Given the description of an element on the screen output the (x, y) to click on. 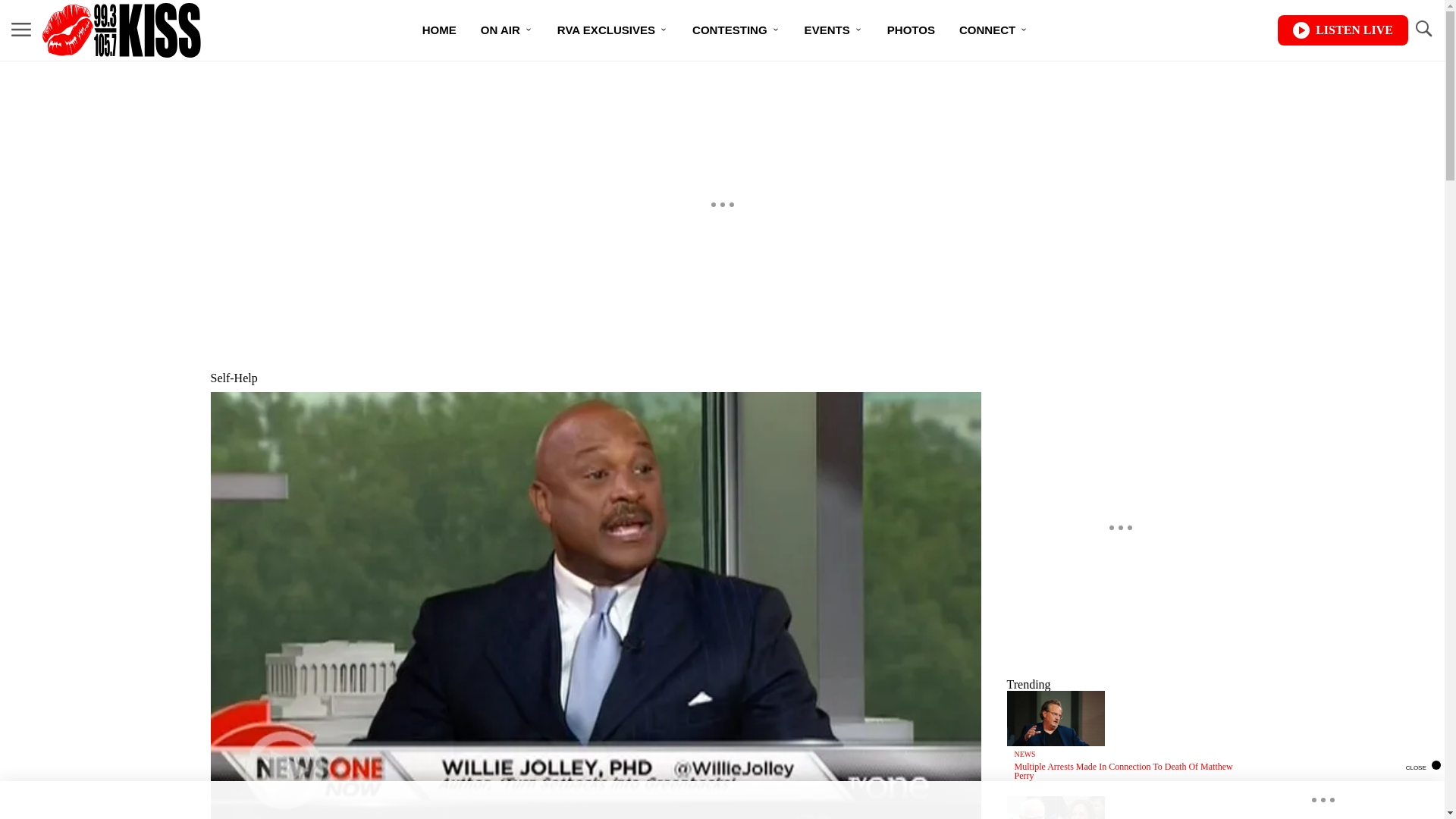
CONNECT (994, 30)
MENU (20, 30)
PHOTOS (911, 30)
TOGGLE SEARCH (1422, 30)
LISTEN LIVE (1342, 30)
HOME (439, 30)
MENU (20, 29)
TOGGLE SEARCH (1422, 28)
EVENTS (833, 30)
ON AIR (506, 30)
